Given the description of an element on the screen output the (x, y) to click on. 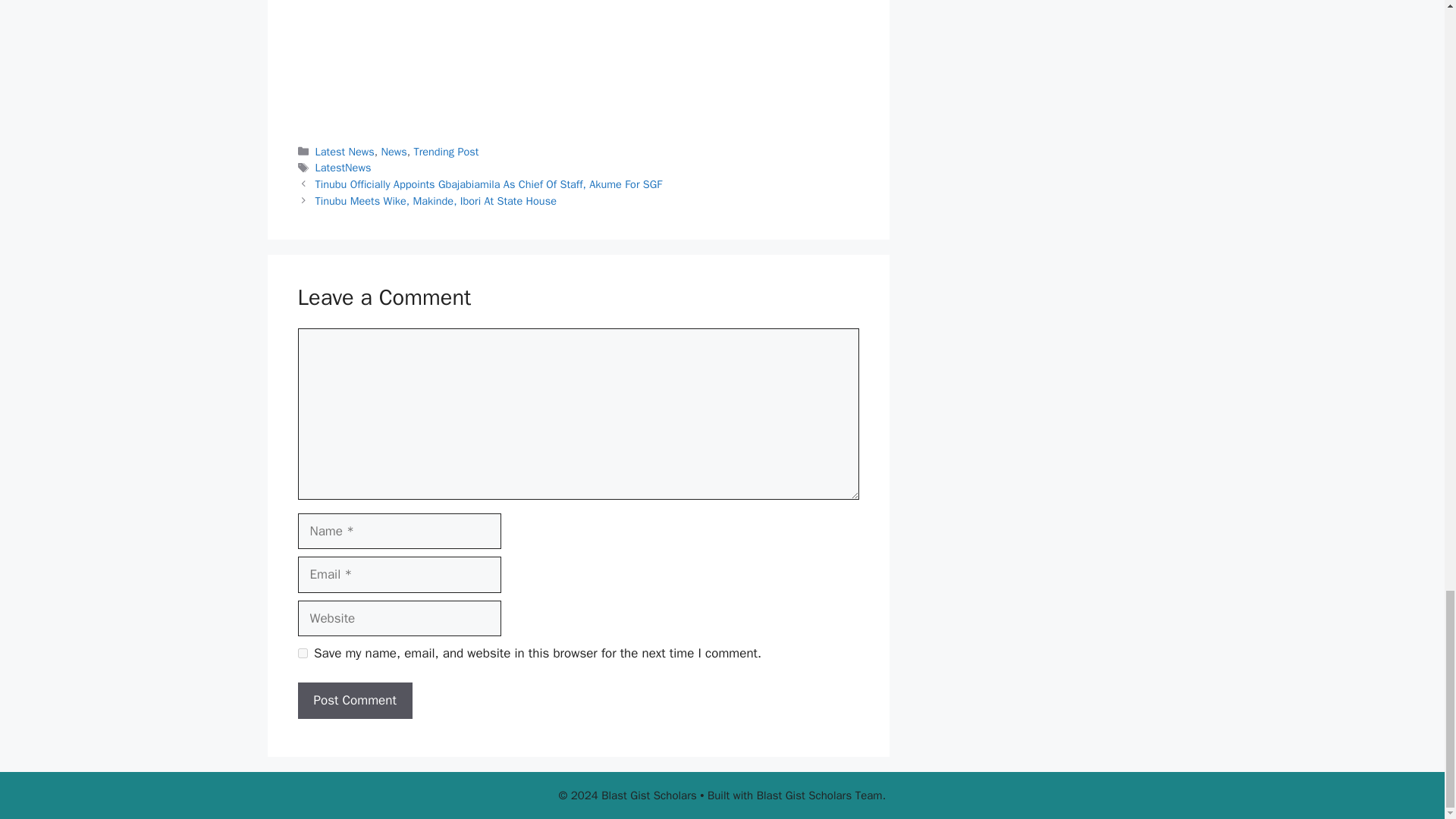
Tinubu Meets Wike, Makinde, Ibori At State House (435, 201)
Latest News (344, 151)
News (393, 151)
Trending Post (446, 151)
yes (302, 653)
Post Comment (354, 700)
Advertisement (578, 61)
LatestNews (343, 167)
Post Comment (354, 700)
